Given the description of an element on the screen output the (x, y) to click on. 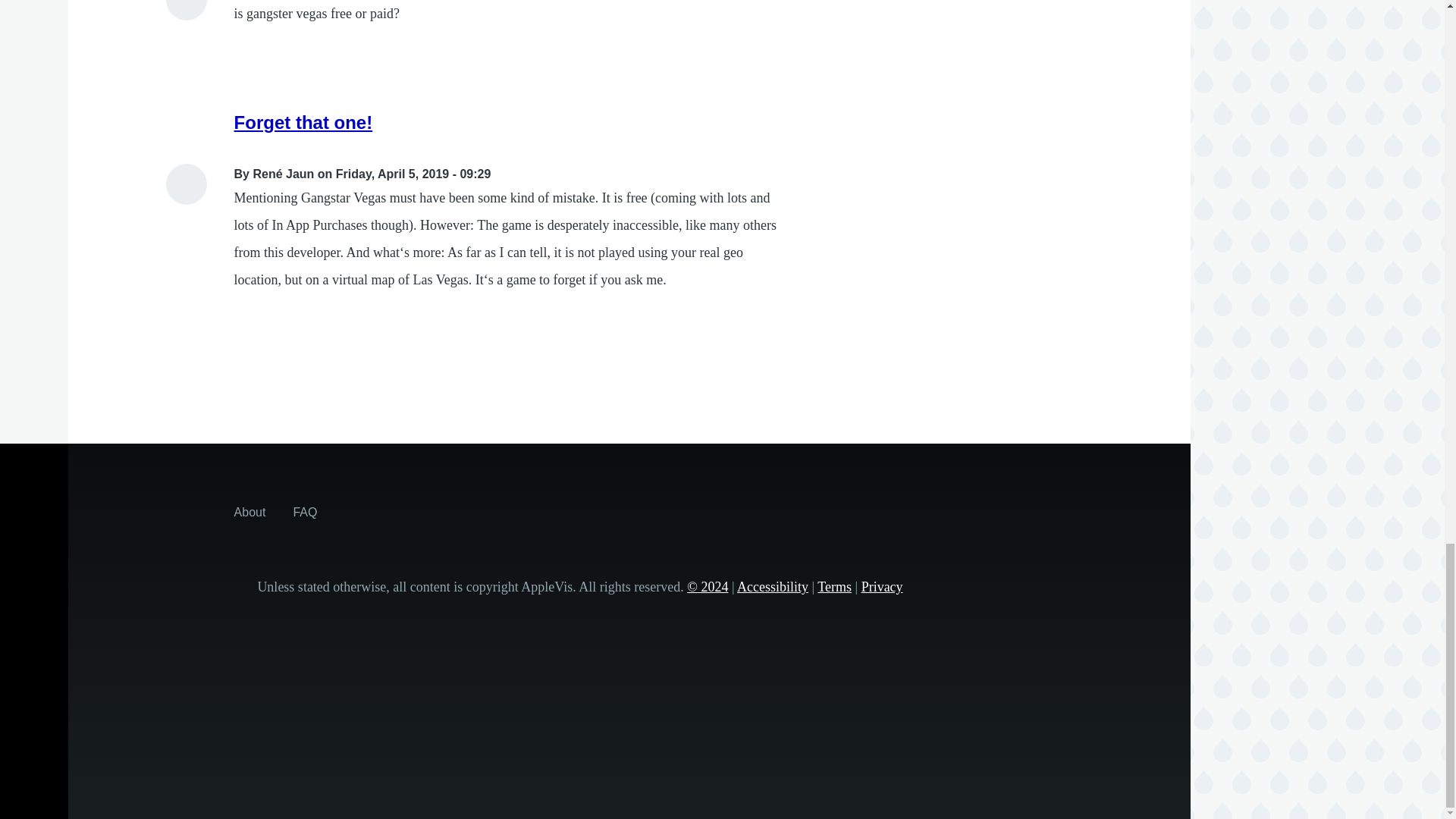
FAQ (304, 511)
Privacy (881, 586)
Terms (833, 586)
Answers to some frequently asked questions about AppleVis (304, 511)
About (250, 511)
About (250, 511)
Forget that one! (303, 122)
Accessibility (772, 586)
